Given the description of an element on the screen output the (x, y) to click on. 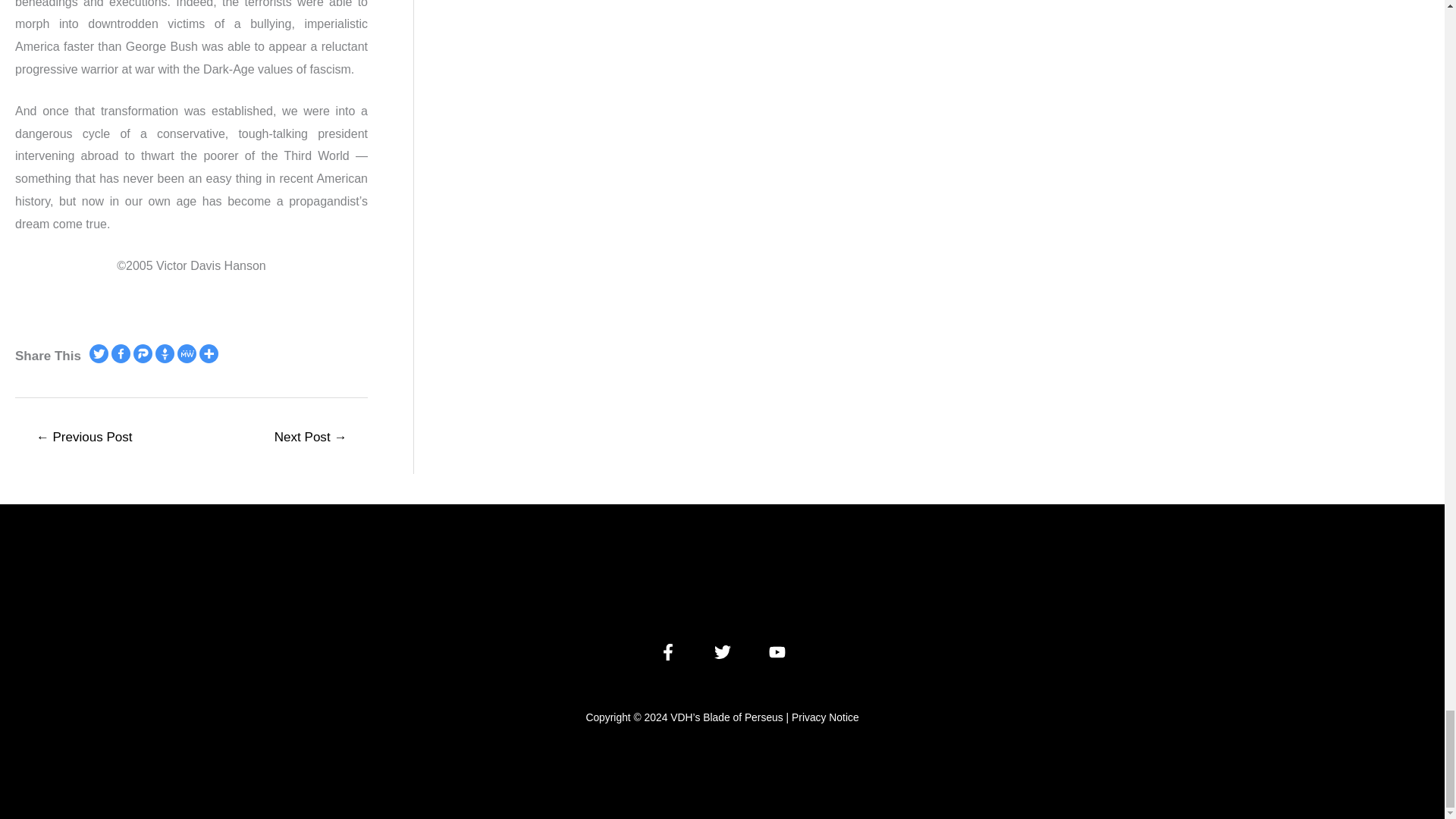
MeWe (186, 353)
More (208, 353)
Twitter (97, 353)
Parler (142, 353)
Facebook (121, 353)
Gettr (164, 353)
